Given the description of an element on the screen output the (x, y) to click on. 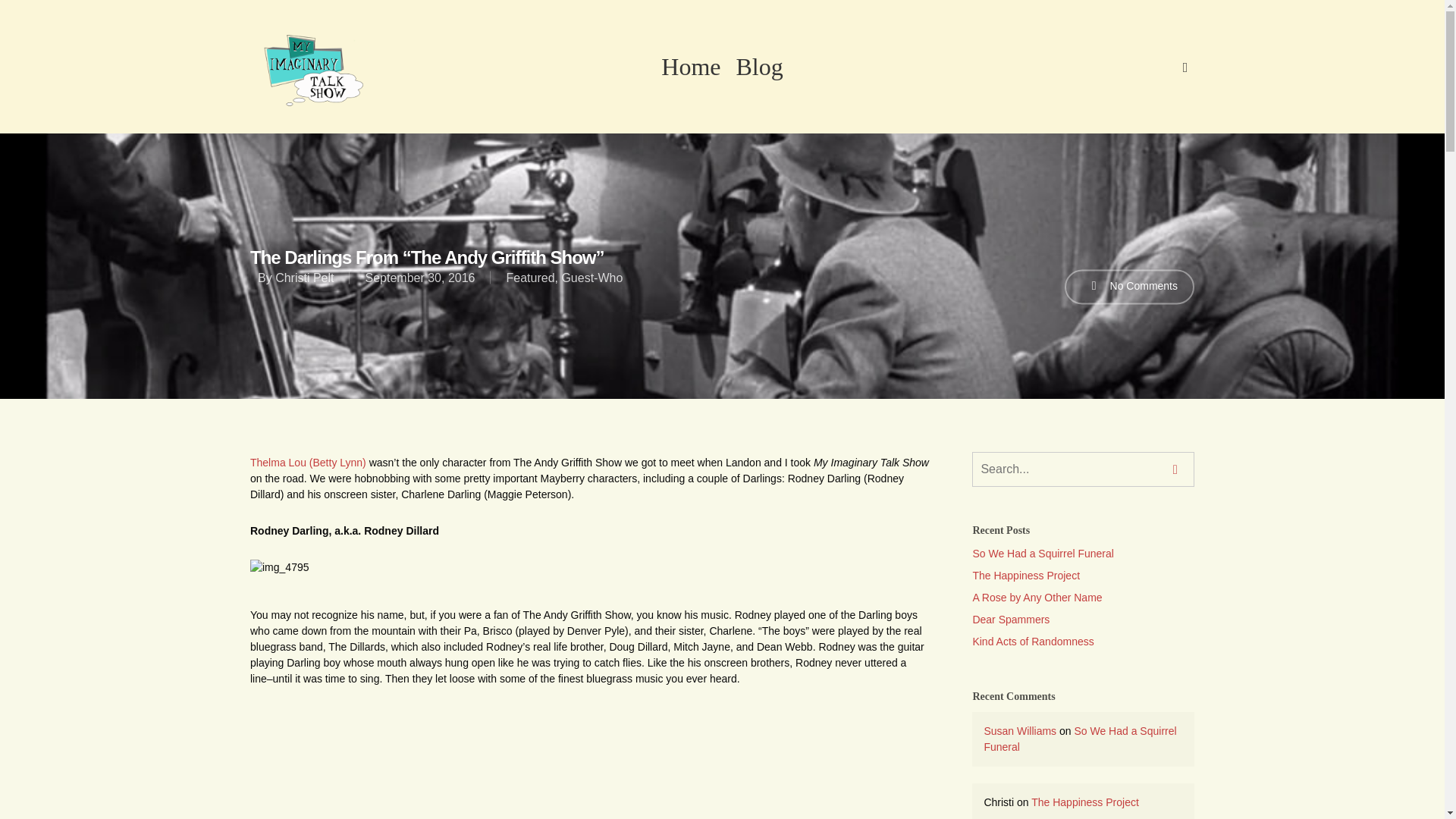
Susan Williams (1020, 730)
Home (690, 66)
Dear Spammers (1082, 619)
Blog (759, 66)
So We Had a Squirrel Funeral (1082, 553)
The Happiness Project (1084, 802)
Guest-Who (591, 277)
The Happiness Project (1082, 575)
Kind Acts of Randomness (1082, 641)
Featured (529, 277)
